Given the description of an element on the screen output the (x, y) to click on. 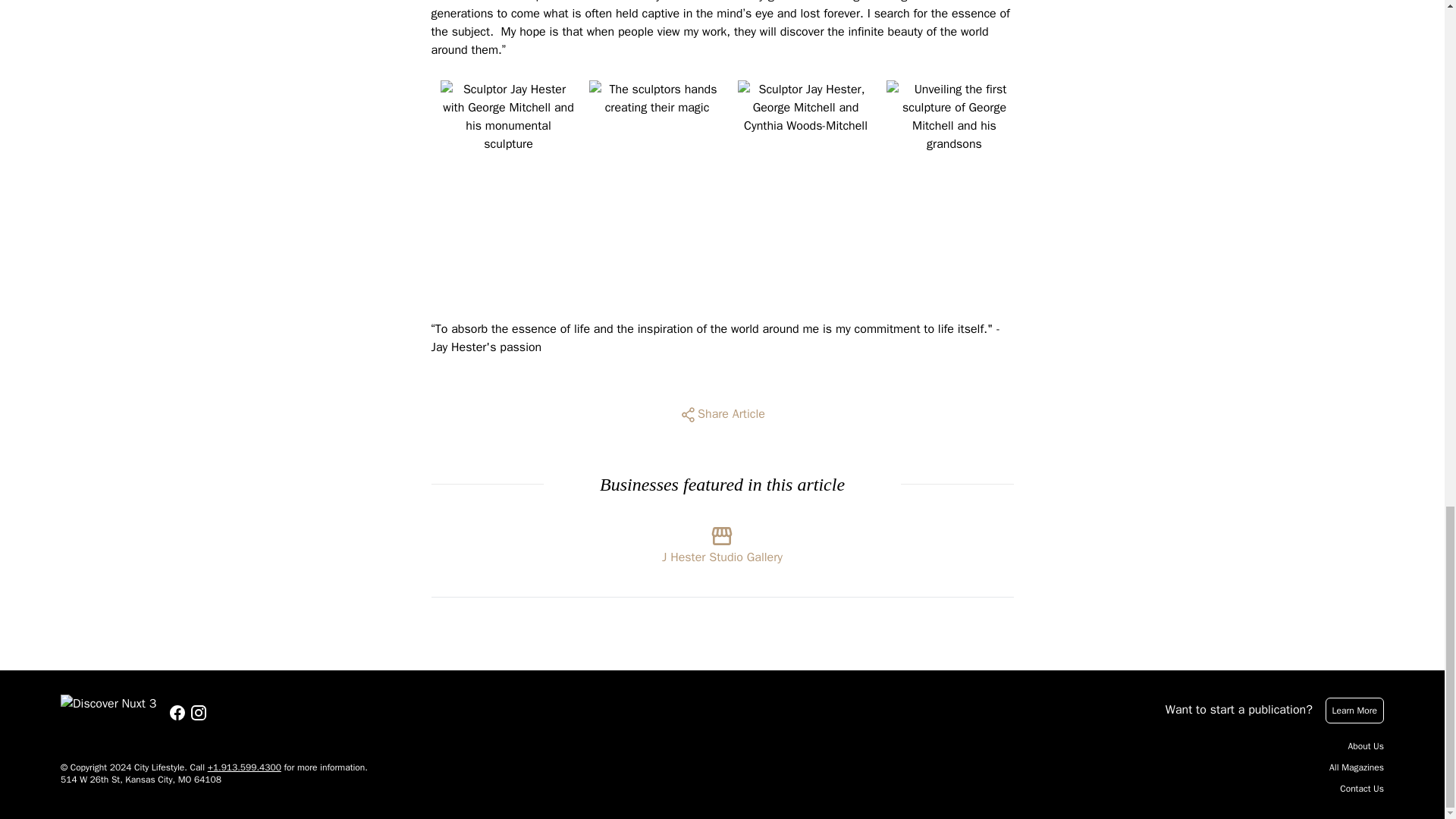
All Magazines (1356, 767)
J Hester Studio Gallery (722, 540)
Contact Us (1361, 788)
Learn More (1354, 710)
Share Article (722, 414)
About Us (1366, 746)
